Given the description of an element on the screen output the (x, y) to click on. 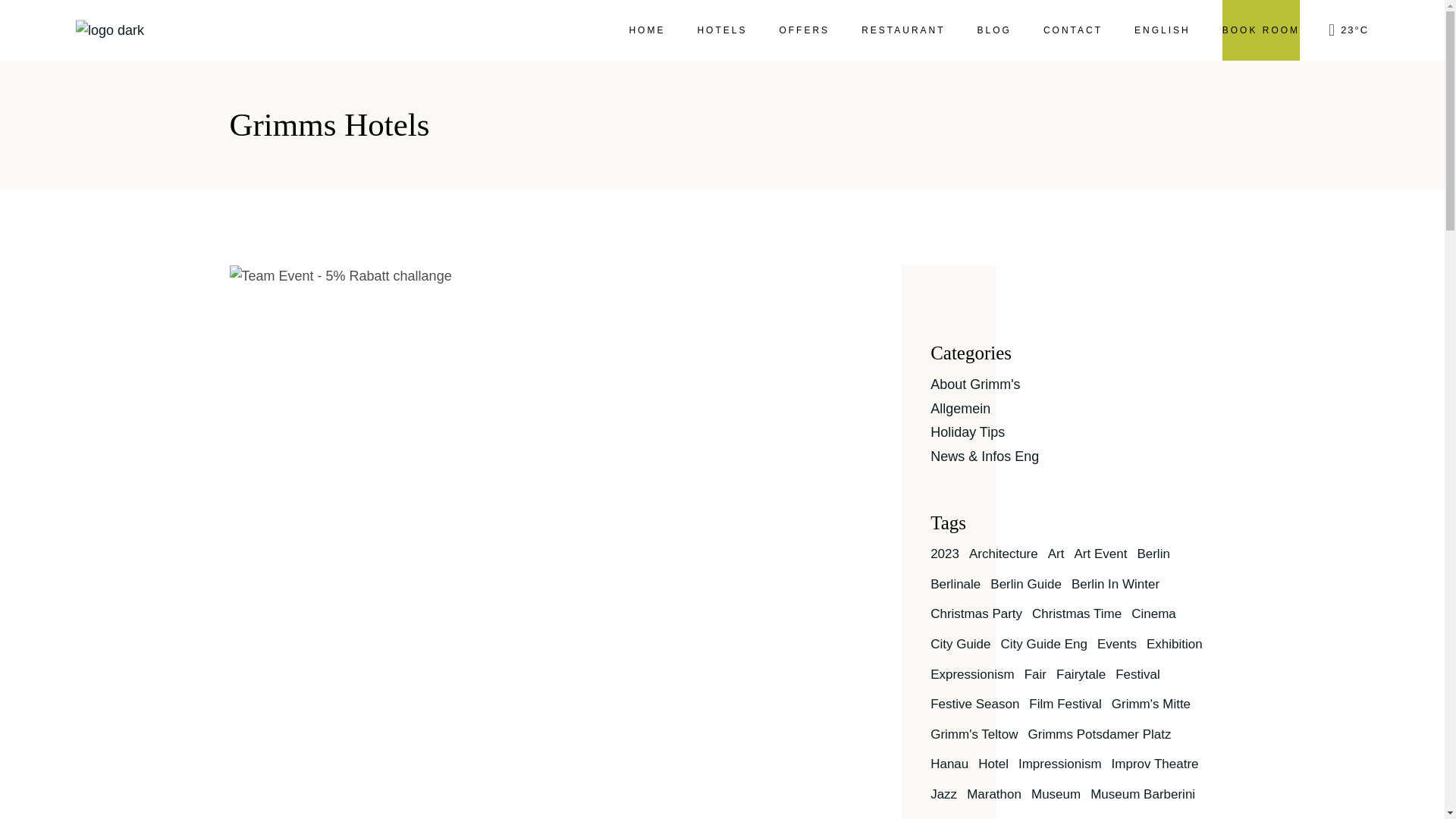
RESTAURANT (902, 30)
ENGLISH (1162, 30)
BOOK ROOM (1261, 30)
CONTACT (1072, 30)
